Given the description of an element on the screen output the (x, y) to click on. 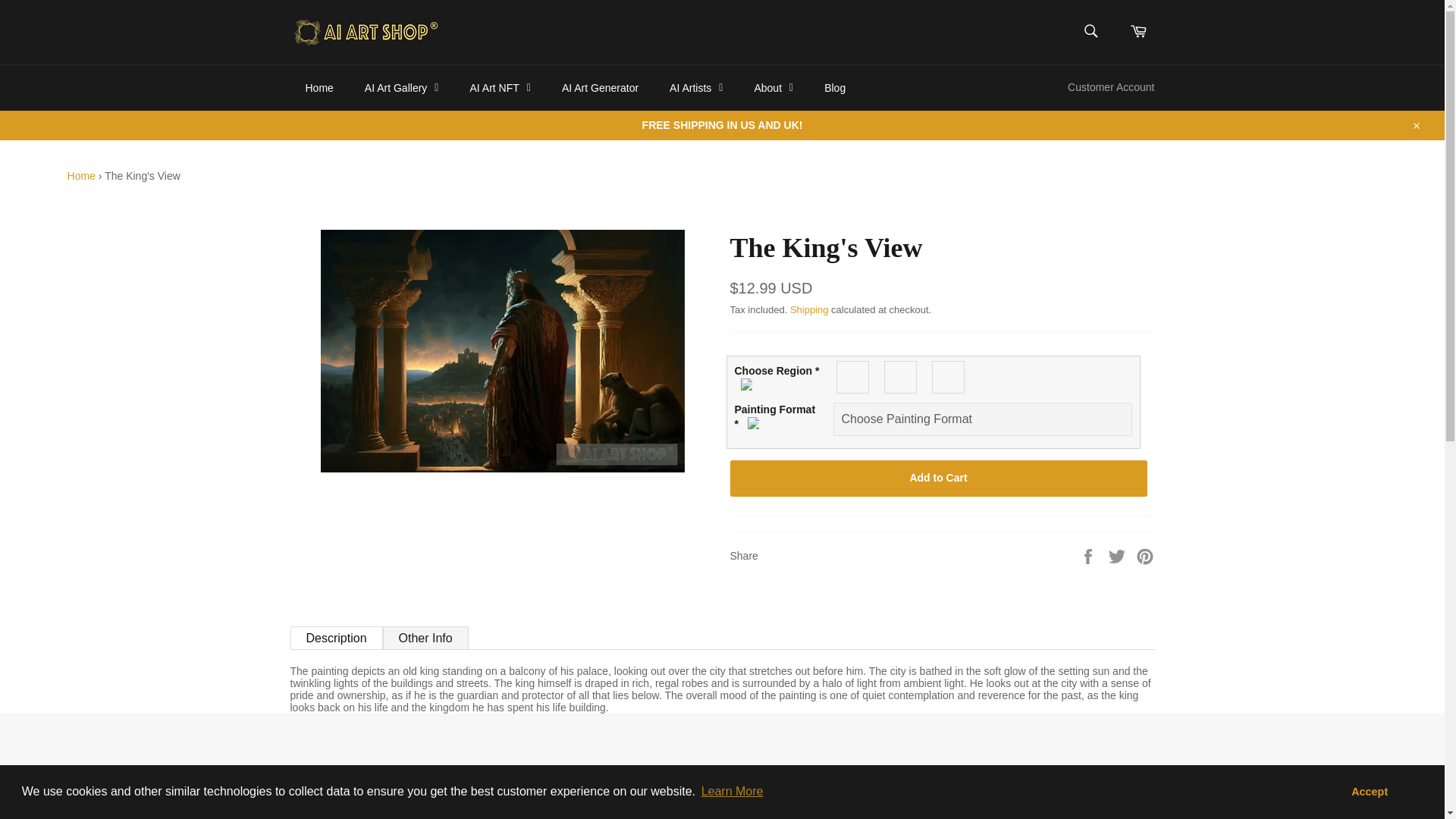
Accept (1369, 791)
Learn More (731, 791)
